Given the description of an element on the screen output the (x, y) to click on. 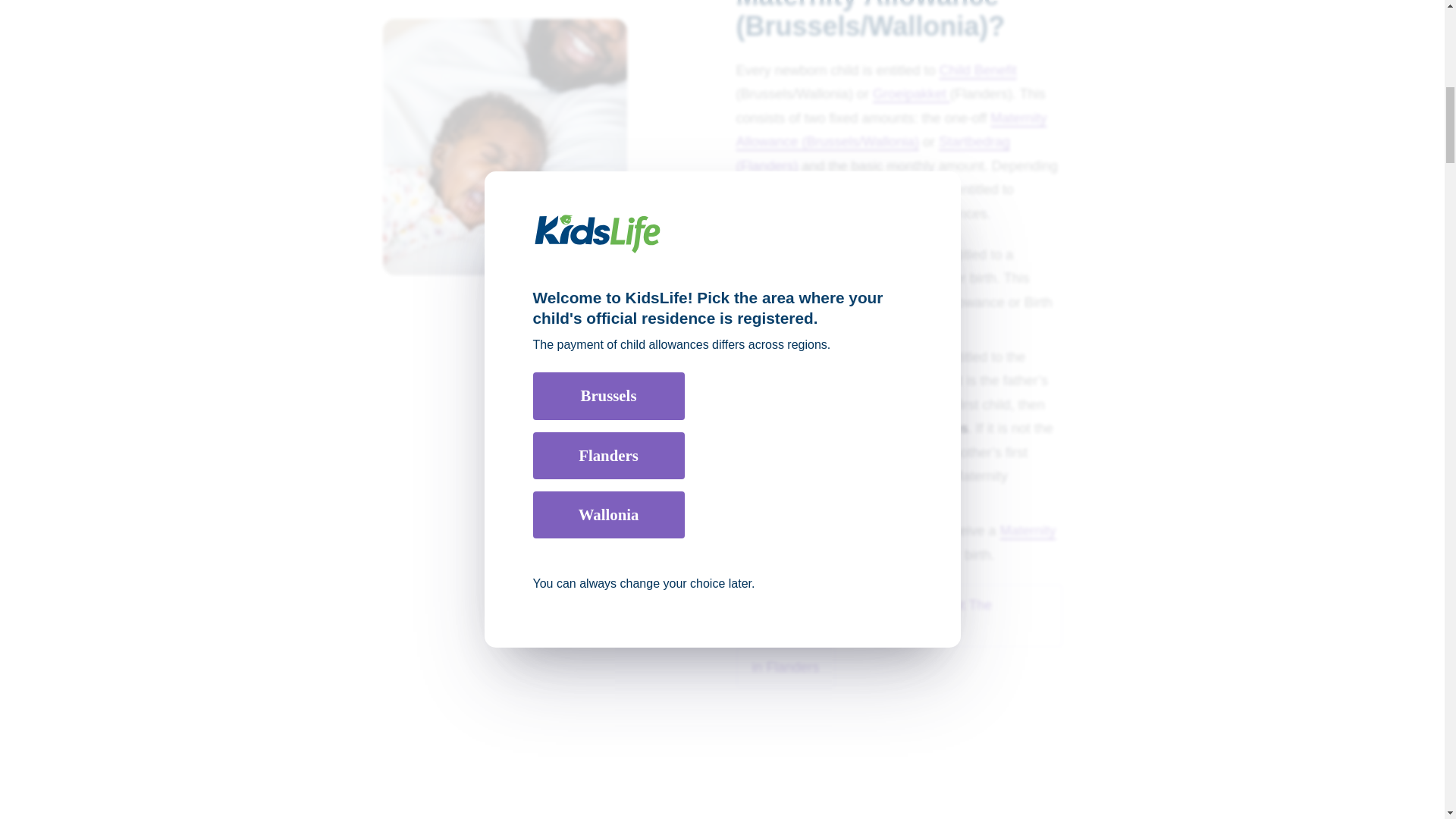
Groeipakket - Child Benefit in Flanders (919, 93)
Startbedrag: Maternity Allowance when your child is born (796, 278)
Startbedrag: Maternity Allowance when your child is born (821, 380)
Startbedrag: Maternity Allowance when your child is born (784, 666)
Startbedrag: Maternity Allowance when your child is born (898, 614)
Startbedrag: Maternity Allowance when your child is born (908, 542)
Groeipakket - Child Benefit in Flanders (880, 93)
Child Benefits (977, 69)
